Given the description of an element on the screen output the (x, y) to click on. 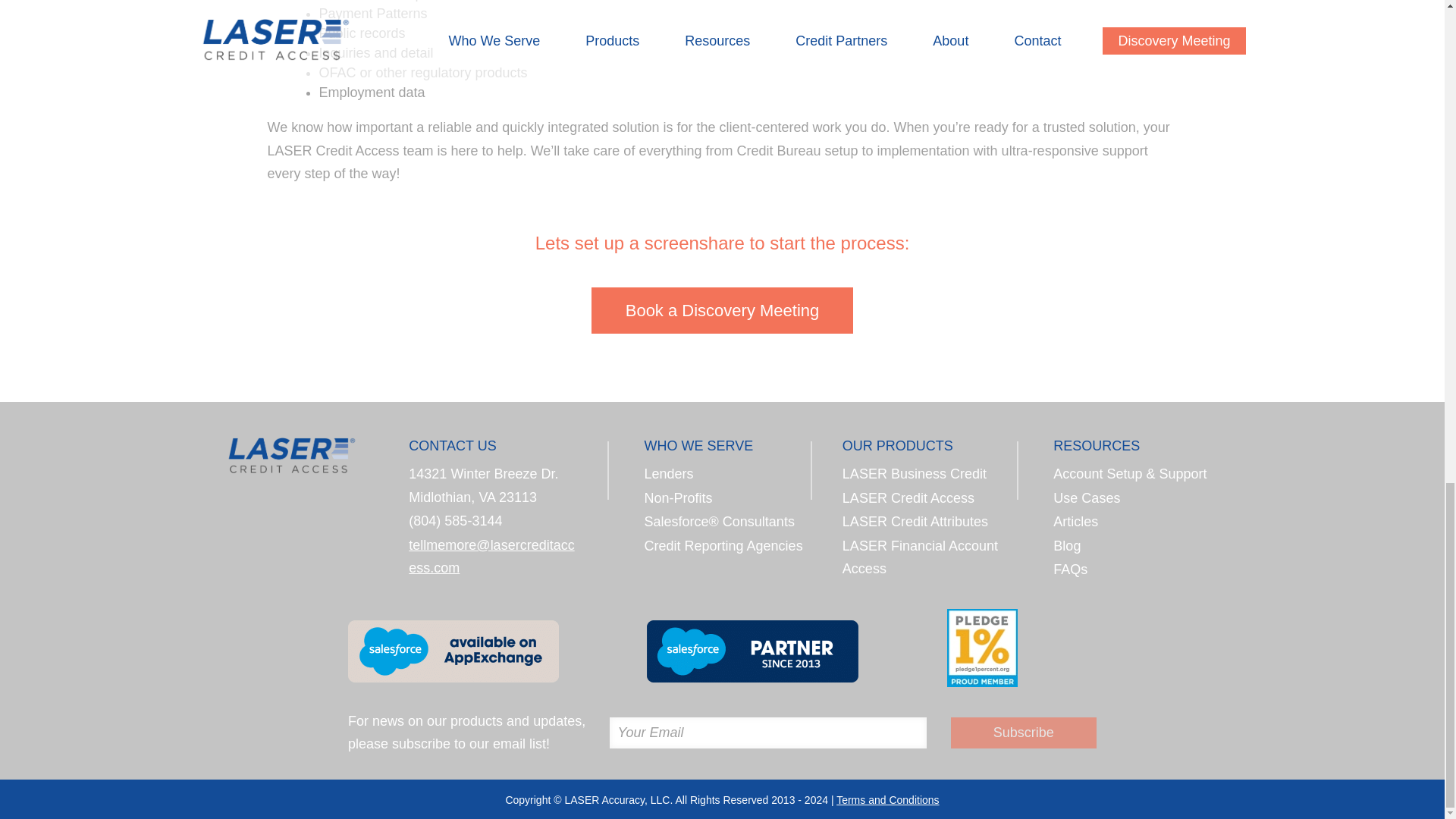
Subscribe (1023, 732)
Credit Reporting Agencies (724, 545)
Use Cases (1085, 498)
Blog (1066, 545)
Book a Discovery Meeting (722, 310)
LASER Credit Attributes (915, 521)
14321 Winter Breeze Dr. Midlothian, VA 23113 (483, 485)
LASER Financial Account Access (920, 557)
FAQs (1069, 569)
Articles (1074, 521)
